Given the description of an element on the screen output the (x, y) to click on. 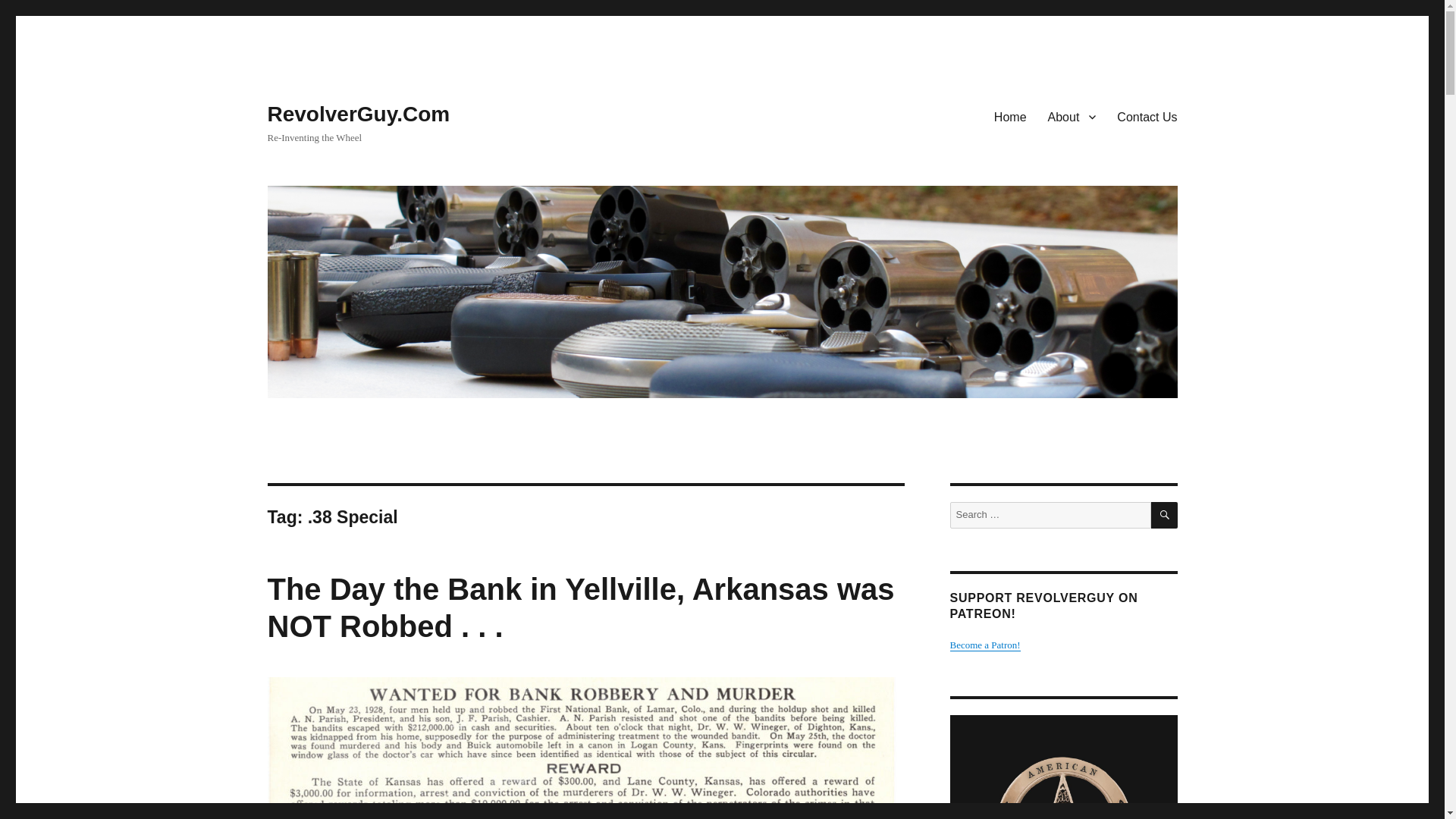
RevolverGuy.Com (357, 114)
Home (1010, 116)
The Day the Bank in Yellville, Arkansas was NOT Robbed . . . (579, 607)
About (1071, 116)
Contact Us (1147, 116)
